Given the description of an element on the screen output the (x, y) to click on. 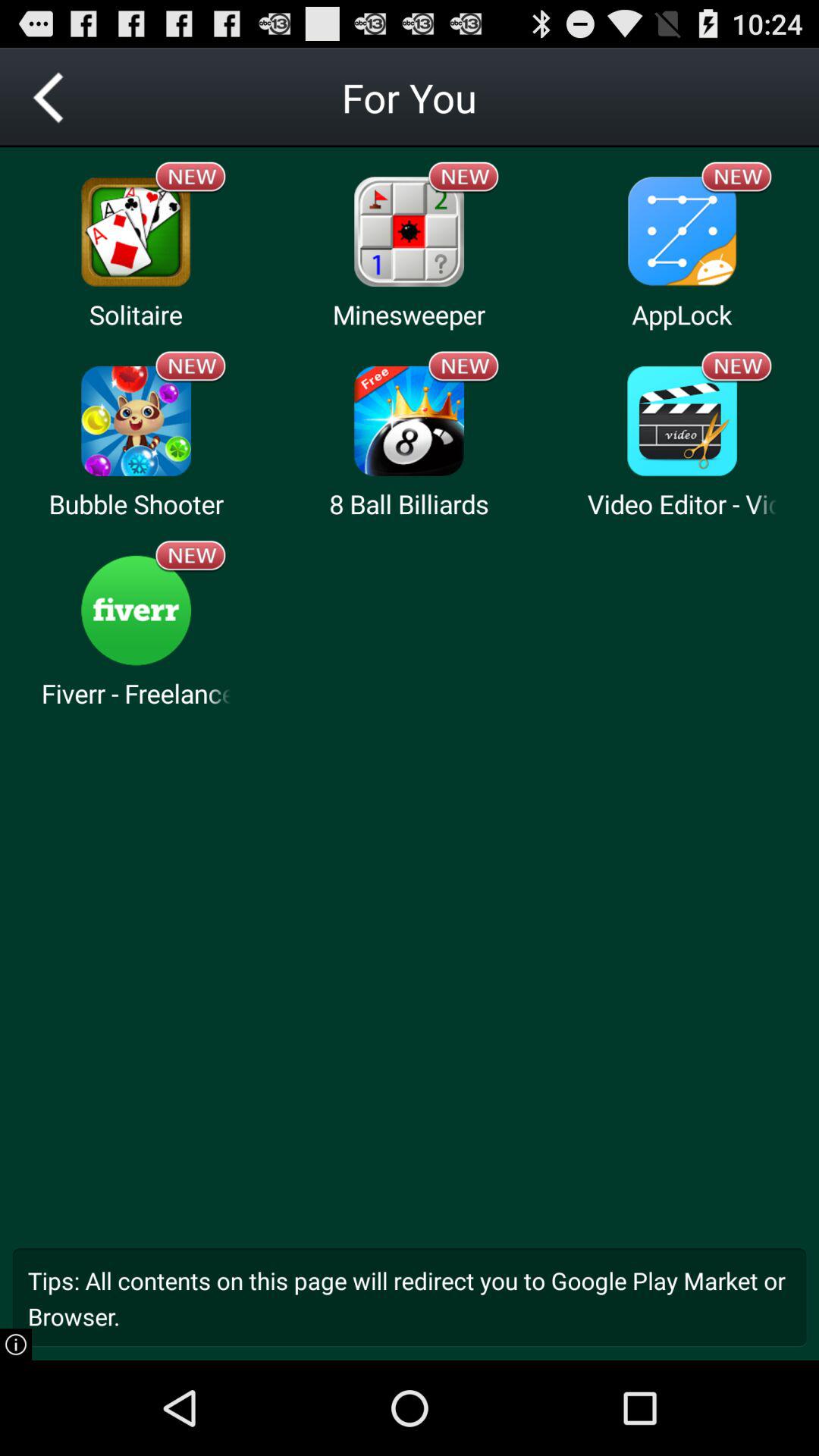
launch the item above fiverr - freelance services (136, 610)
